Given the description of an element on the screen output the (x, y) to click on. 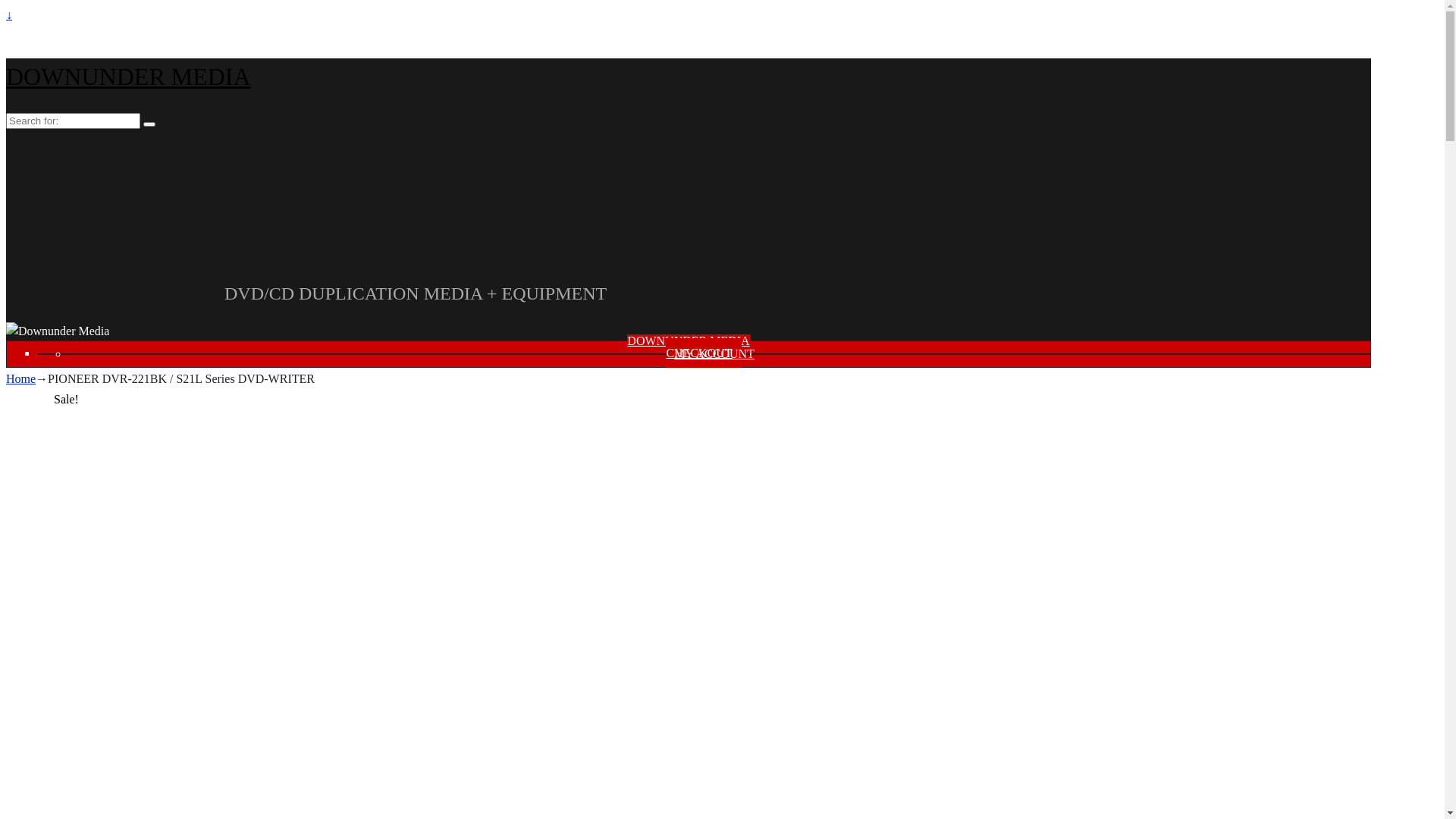
MY ACCOUNT Element type: text (718, 353)
CHECKOUT Element type: text (702, 352)
Home Element type: text (20, 378)
DELIVERY Element type: text (702, 352)
ABOUT Element type: text (702, 352)
DOWNUNDER MEDIA Element type: text (128, 76)
CART Element type: text (703, 352)
HOME Element type: text (702, 352)
SHOP Element type: text (704, 352)
DOWNUNDER MEDIA Element type: text (688, 340)
CONTACTS Element type: text (703, 352)
WISHLIST Element type: text (704, 352)
